Given the description of an element on the screen output the (x, y) to click on. 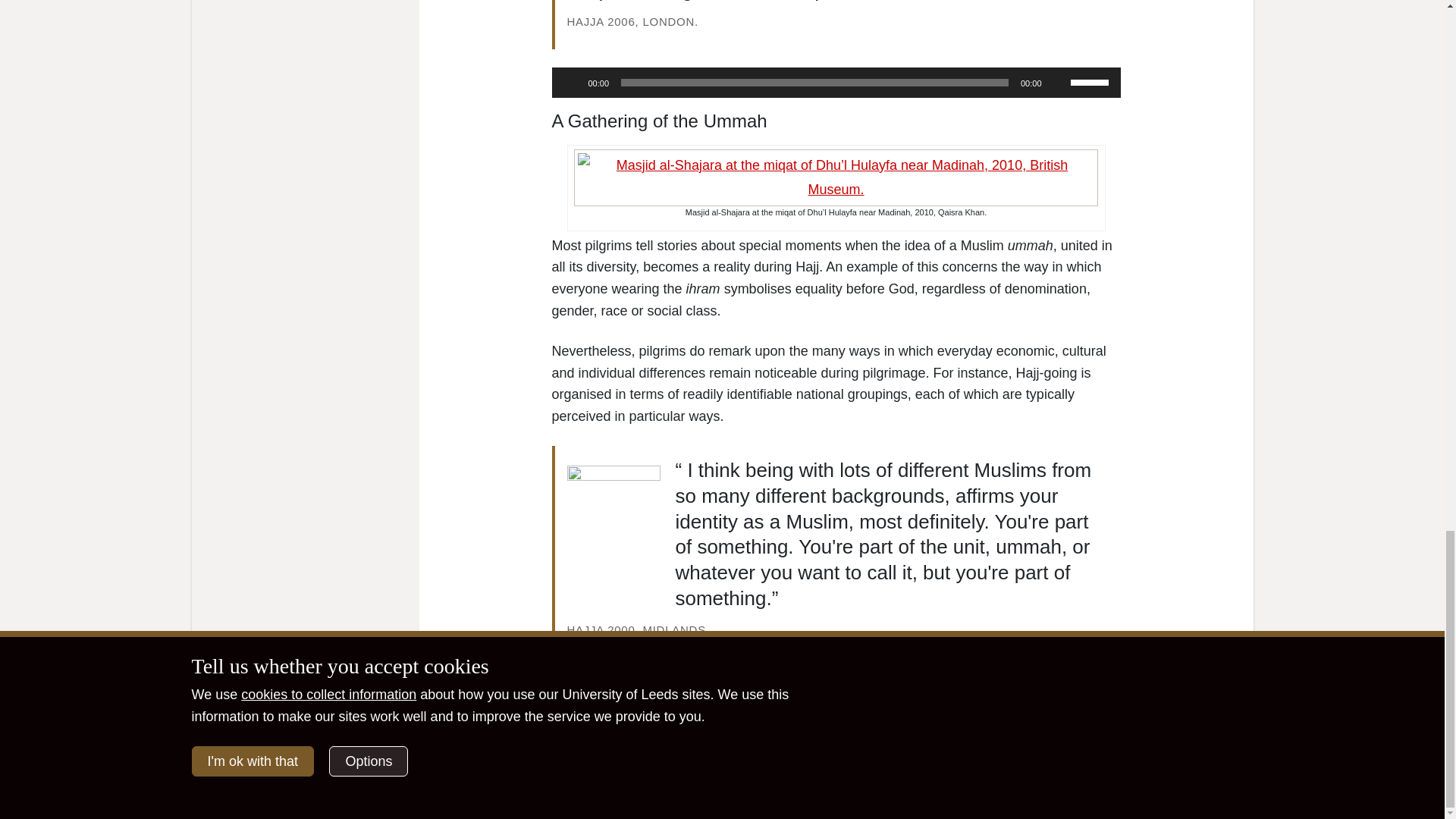
The Council of British Hajjis (496, 751)
The British Museum (842, 751)
The British Academy (729, 751)
Leeds Social Sciences Institute (447, 751)
Play (571, 690)
Mute (1058, 82)
Licensed Hajj Organisers (620, 751)
Play (571, 82)
AHRC (917, 751)
Mute (1058, 690)
UKRI (282, 751)
